Given the description of an element on the screen output the (x, y) to click on. 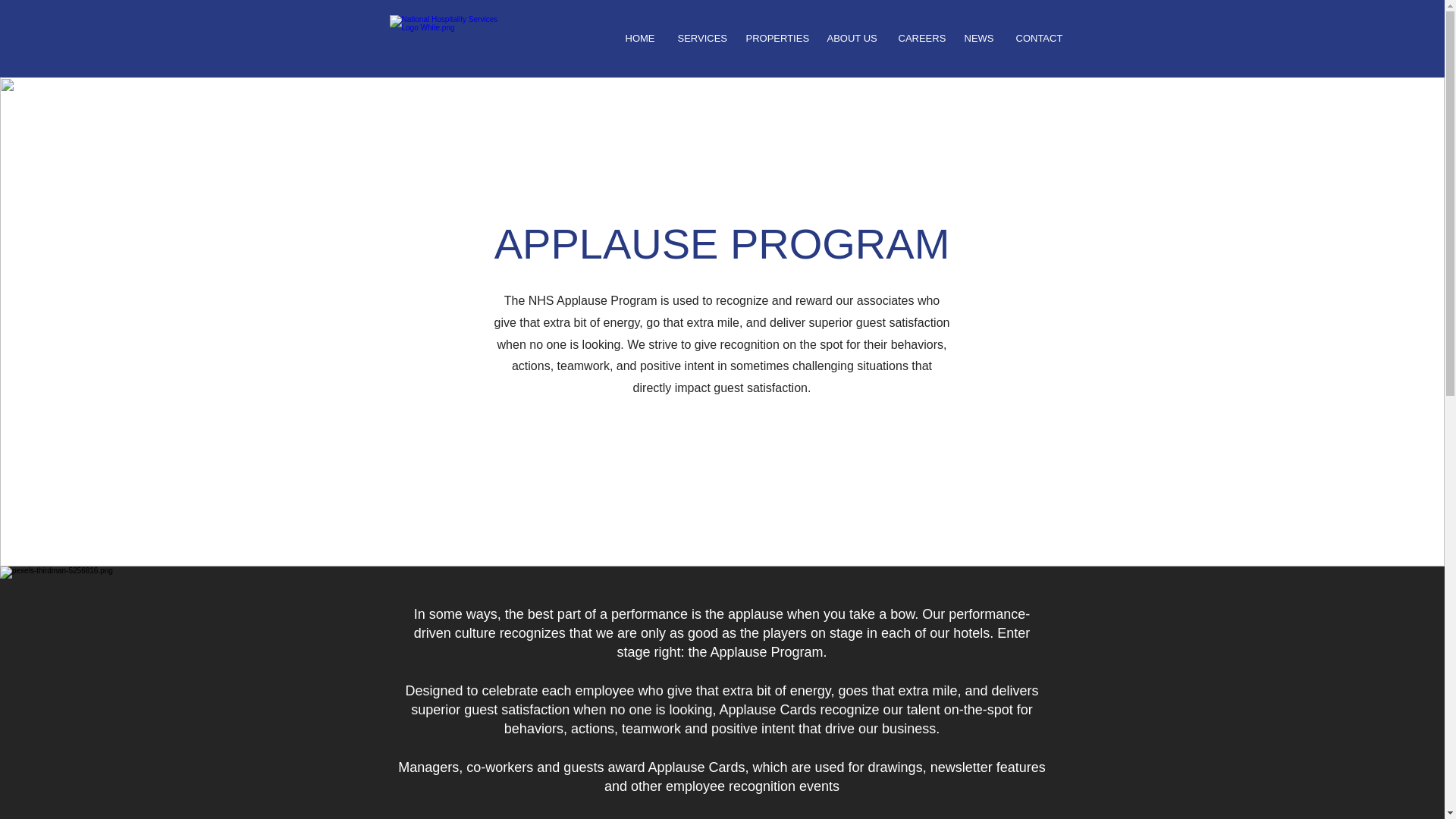
PROPERTIES (774, 38)
CONTACT (1038, 38)
ABOUT US (850, 38)
SERVICES (699, 38)
HOME (639, 38)
CAREERS (919, 38)
NEWS (978, 38)
